Given the description of an element on the screen output the (x, y) to click on. 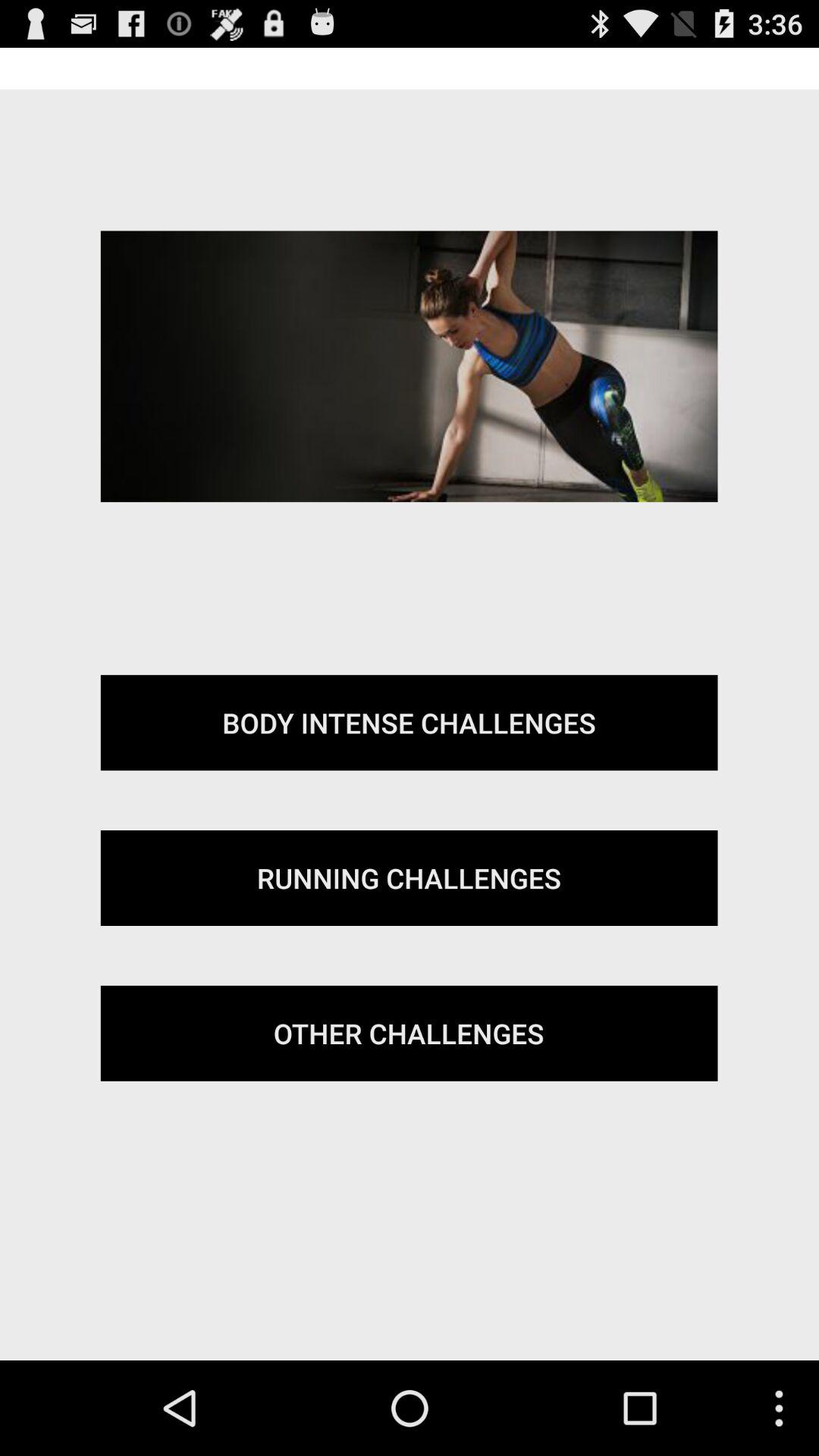
select icon below running challenges (408, 1033)
